Given the description of an element on the screen output the (x, y) to click on. 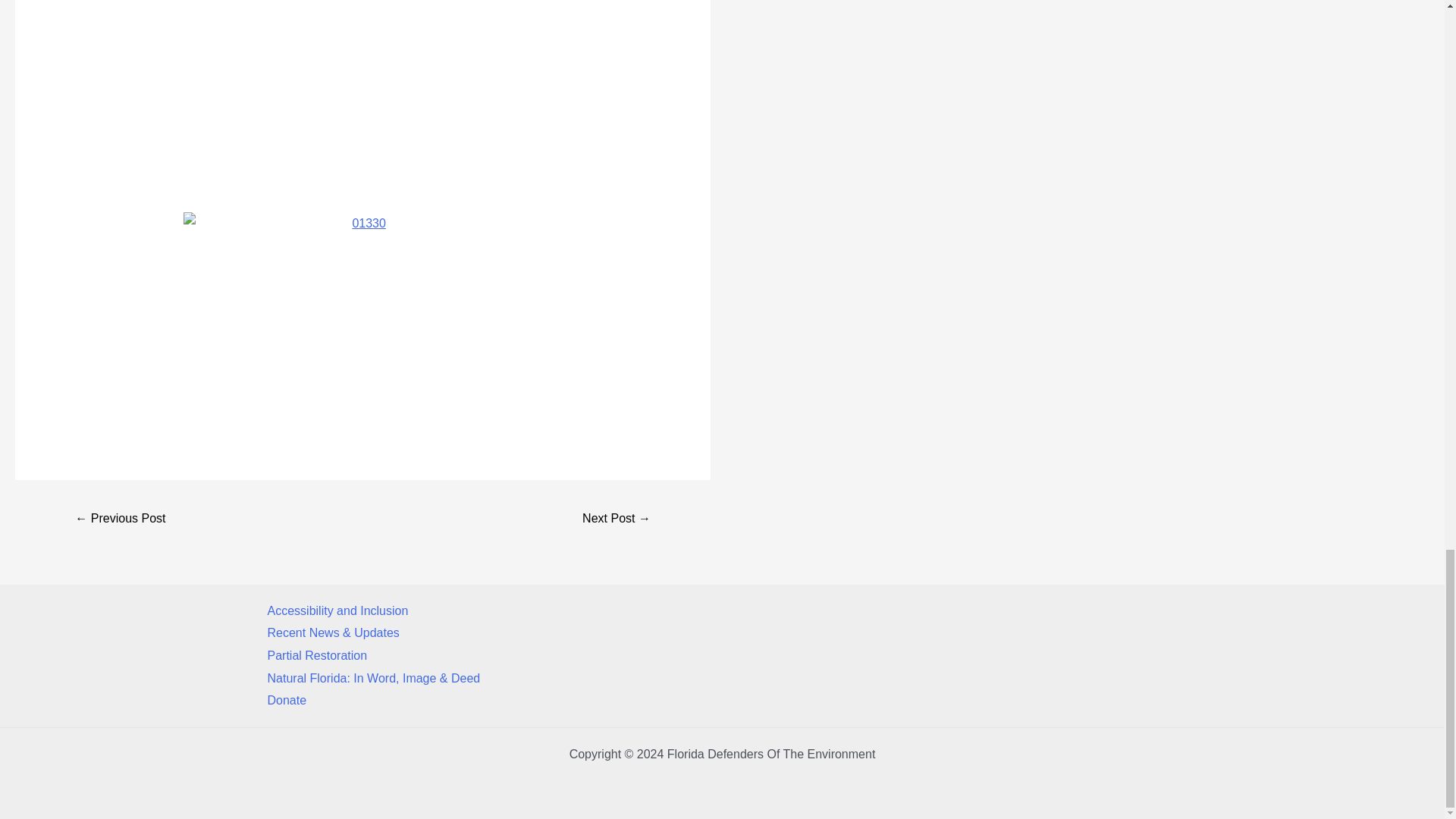
Steve Robitaille: Sleepy Creek is another bait and switch (616, 519)
An Illustrated Reading by Lola Haskins (119, 519)
